Given the description of an element on the screen output the (x, y) to click on. 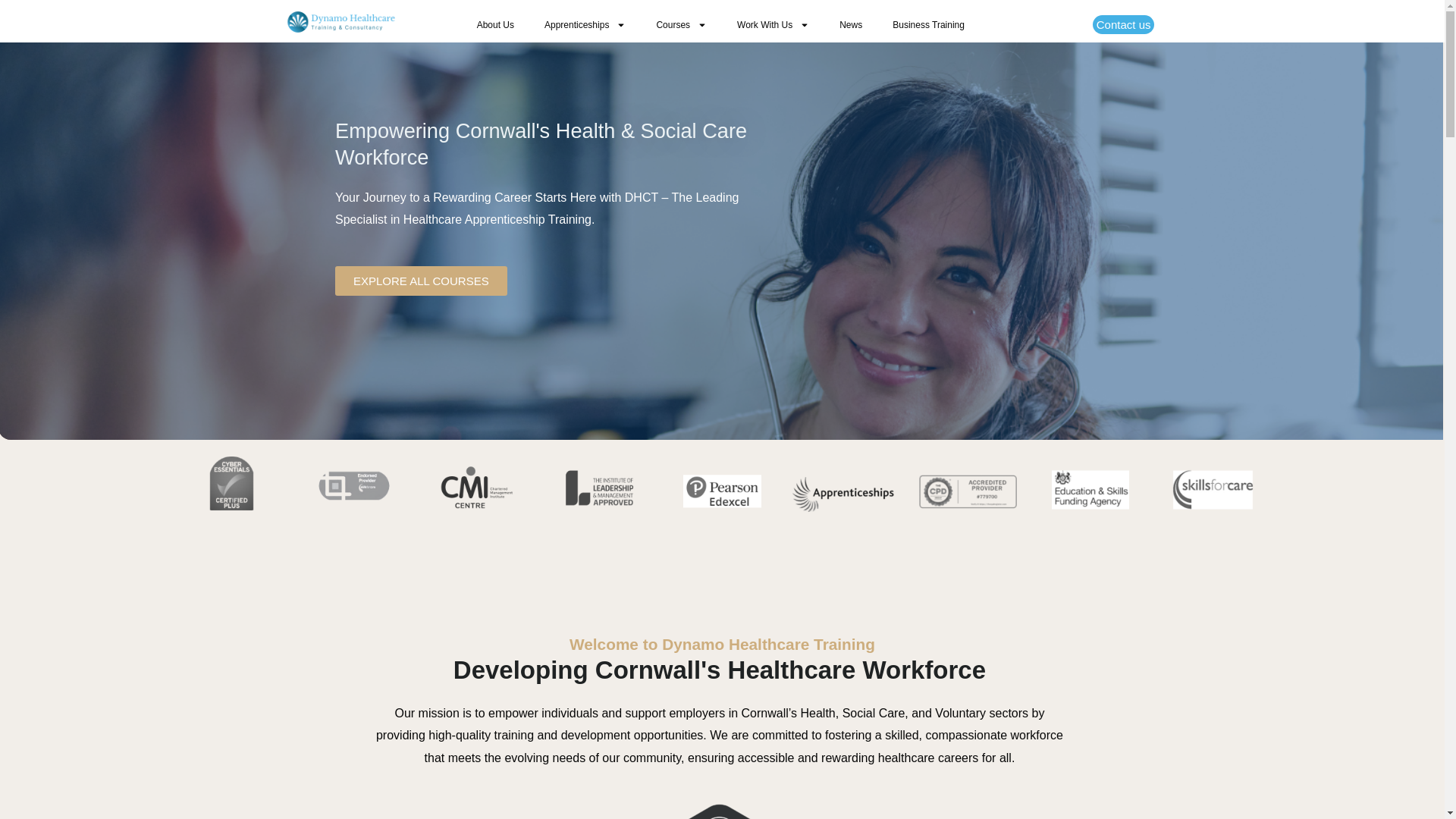
Apprenticeships (584, 24)
Courses (681, 24)
About Us (495, 24)
Business Training (928, 24)
Work With Us (773, 24)
News (850, 24)
